Given the description of an element on the screen output the (x, y) to click on. 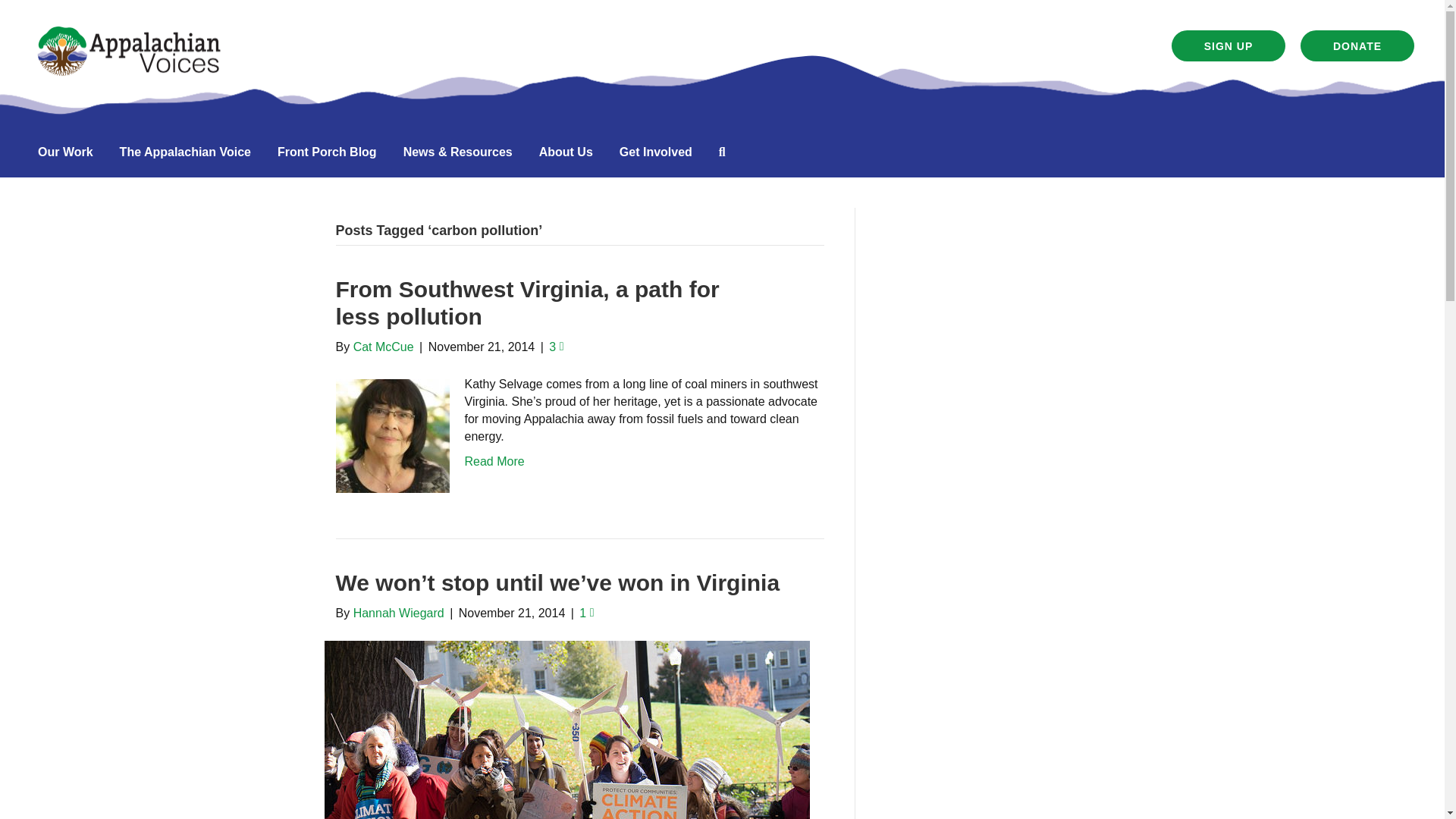
From Southwest Virginia, a path for less pollution (526, 302)
Our Work (65, 151)
AppVoices-logo-color (128, 50)
SIGN UP (1228, 45)
DONATE (1356, 45)
